Given the description of an element on the screen output the (x, y) to click on. 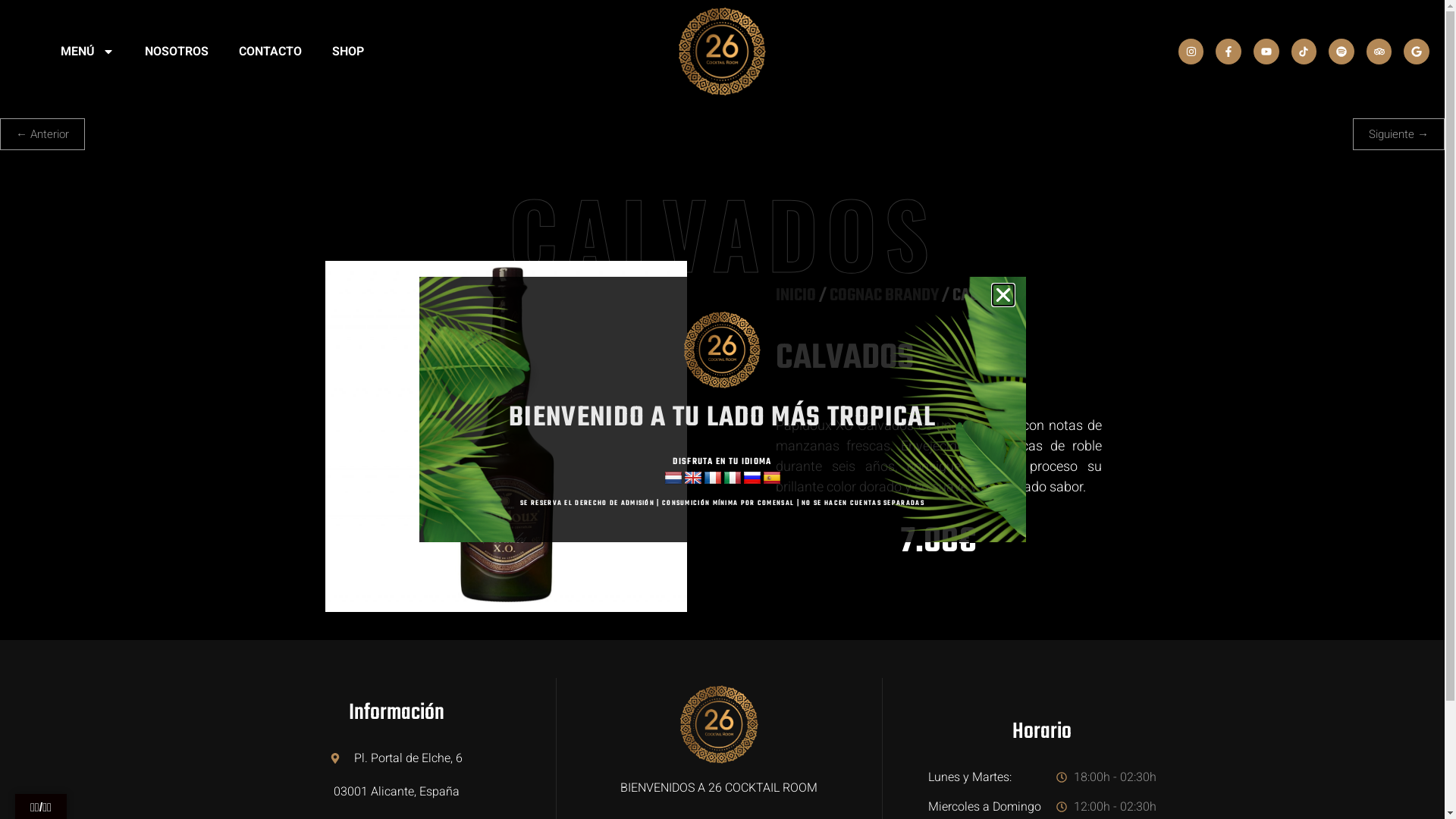
French Element type: hover (712, 478)
INICIO Element type: text (795, 295)
SHOP Element type: text (347, 51)
COGNAC BRANDY Element type: text (883, 295)
Spanish Element type: hover (771, 478)
English Element type: hover (693, 478)
CONTACTO Element type: text (269, 51)
Russian Element type: hover (752, 478)
NOSOTROS Element type: text (176, 51)
Dutch Element type: hover (673, 478)
Italian Element type: hover (732, 478)
